Given the description of an element on the screen output the (x, y) to click on. 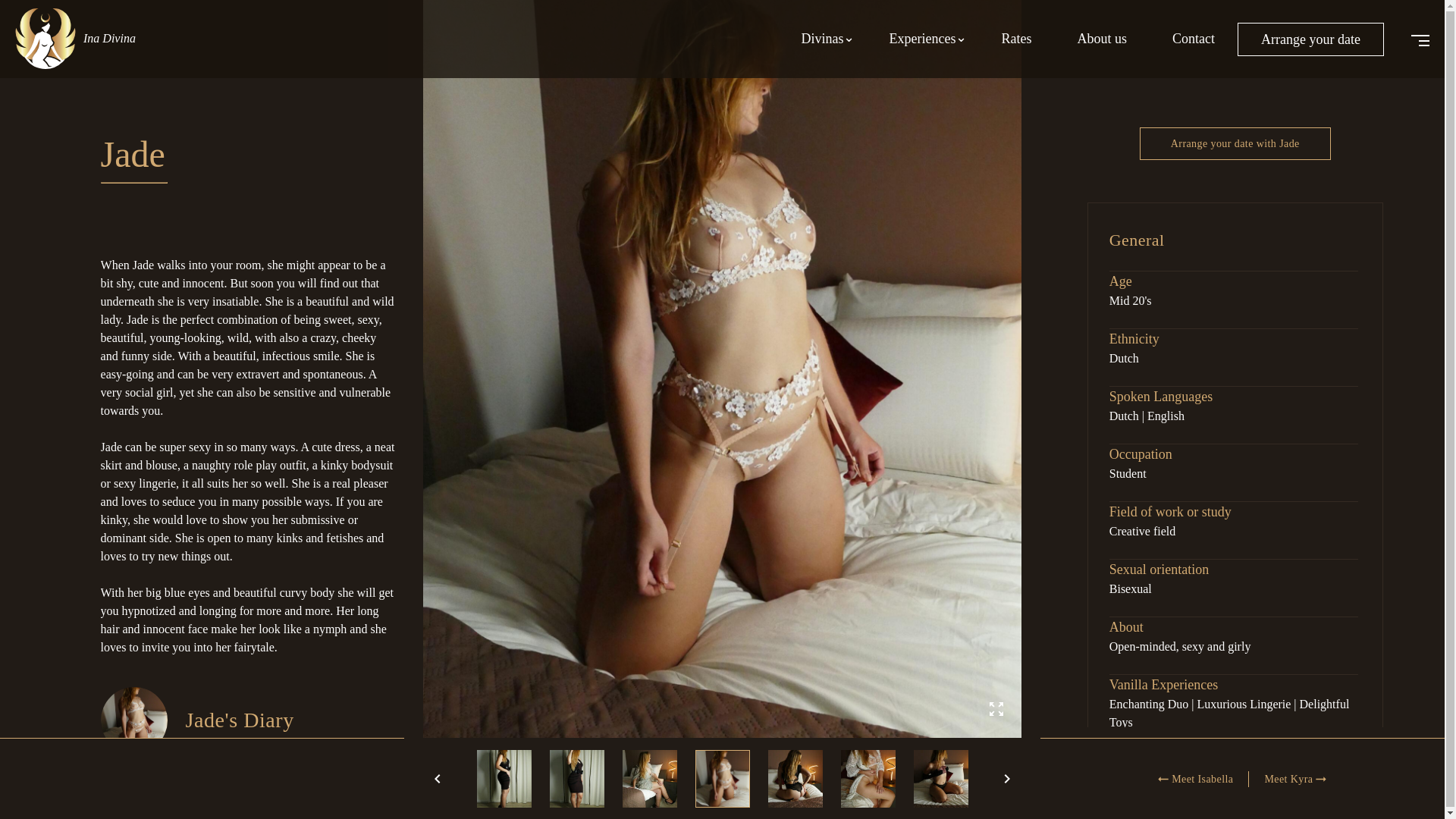
Experiences (922, 38)
Divinas (822, 38)
About us (1102, 38)
Arrange your date (1311, 38)
Rates (1016, 38)
Ina Divina (82, 30)
Contact (1193, 38)
